Given the description of an element on the screen output the (x, y) to click on. 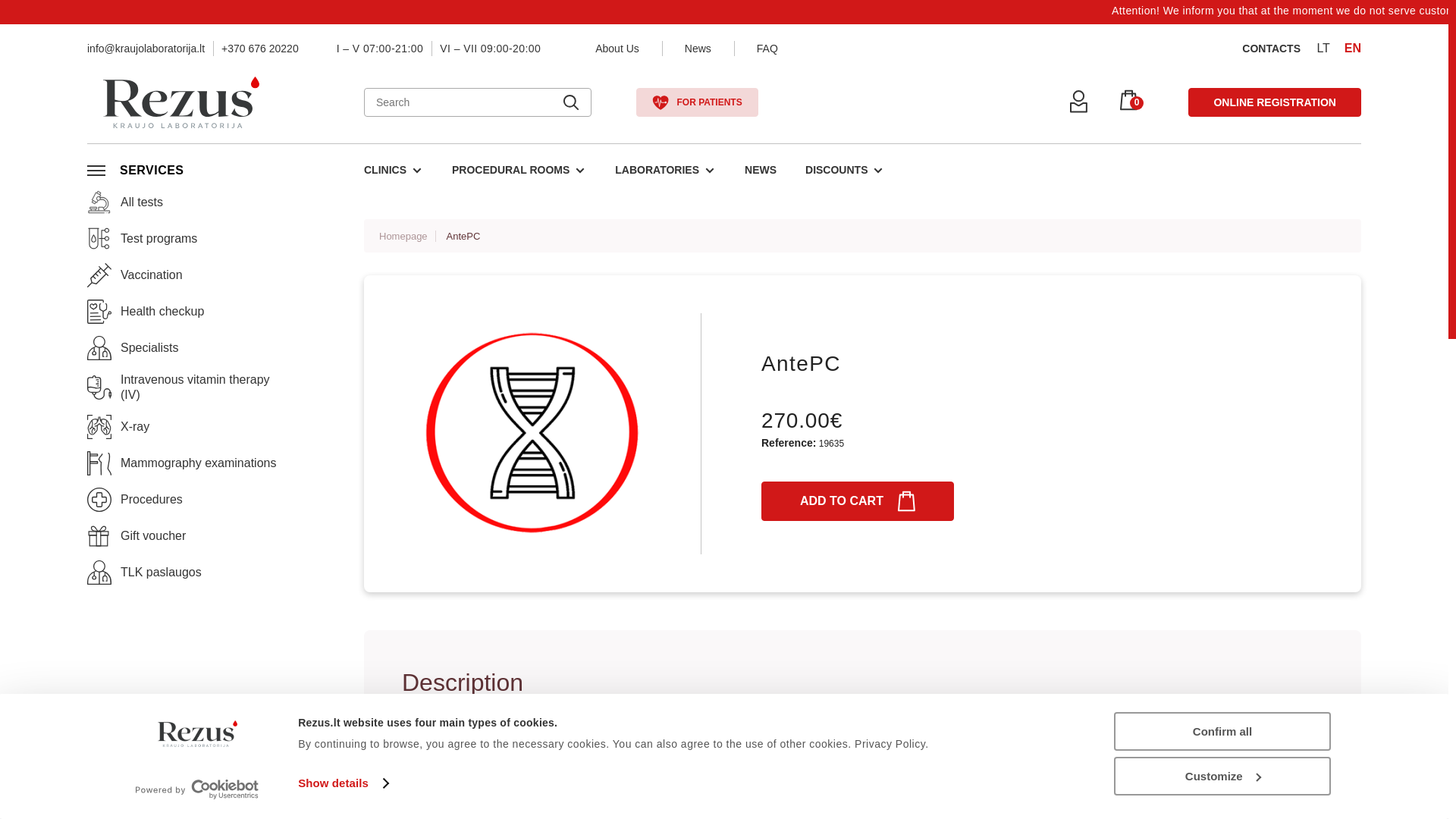
Search (570, 102)
Confirm all (1221, 731)
For Patients (696, 102)
Login (1078, 102)
About Us (617, 48)
English (1352, 47)
Rezus (181, 101)
Services (151, 169)
Privacy Policy. (891, 743)
ONLINE REGISTRATION (1274, 102)
All tests (99, 201)
FAQ (767, 48)
News (697, 48)
Customize (1221, 775)
All tests (125, 201)
